Given the description of an element on the screen output the (x, y) to click on. 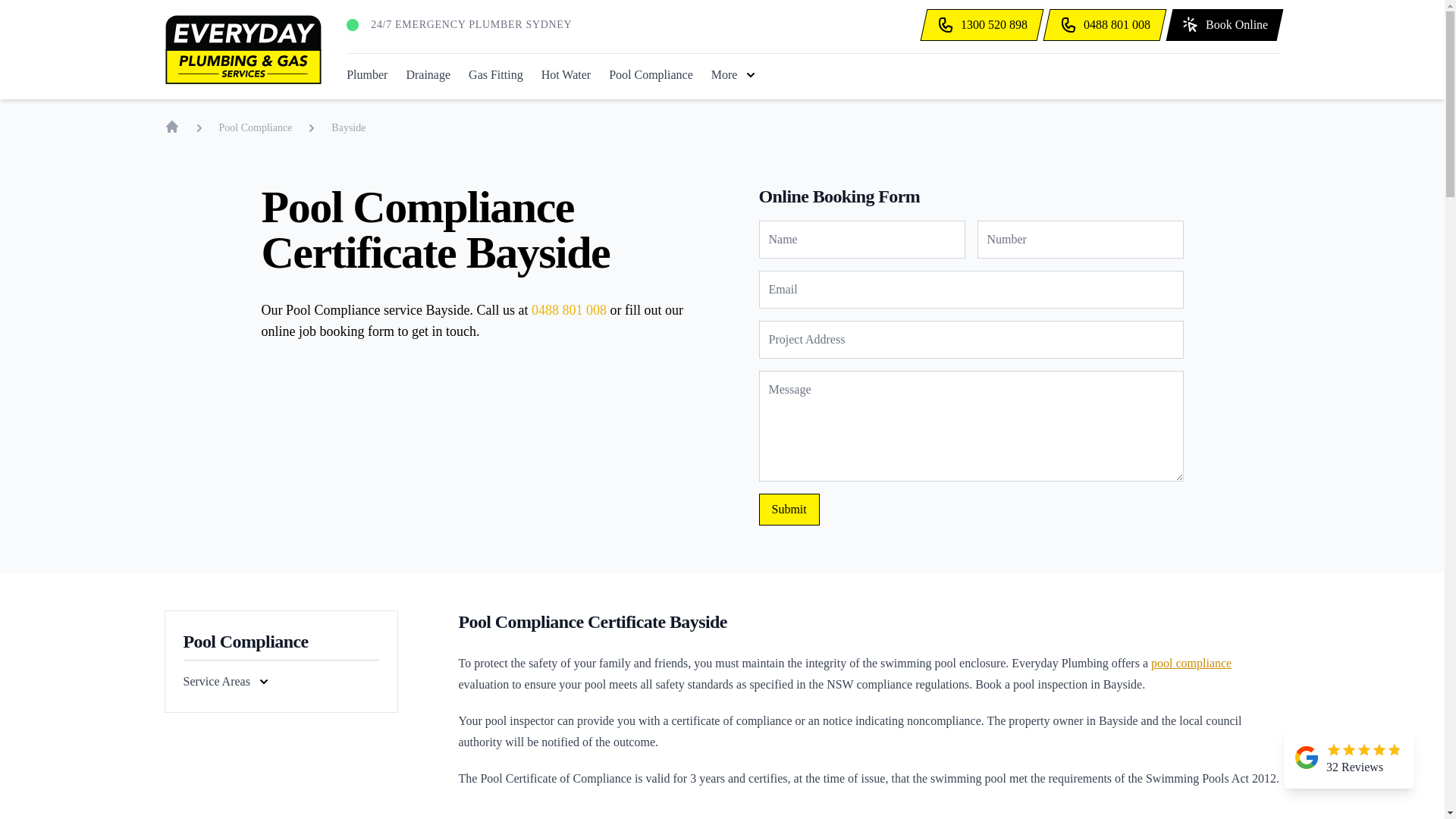
Call Everyday Plumbing Sydney (1101, 24)
Plumber (366, 75)
Service Areas (226, 681)
Bayside (348, 126)
Book Everyday Plumbing Sydney (1221, 24)
Pool Compliance (650, 75)
Emergency Plumber Sydney (471, 24)
Sydney Plumber (366, 75)
32 Reviews (1348, 757)
Sydney Pool Compliance (650, 75)
Pool Compliance (255, 126)
Everyday Plumbing and Gas Home Page (171, 126)
Gas Fitting (495, 75)
0488 801 008 (1101, 24)
1300 520 898 (978, 24)
